Given the description of an element on the screen output the (x, y) to click on. 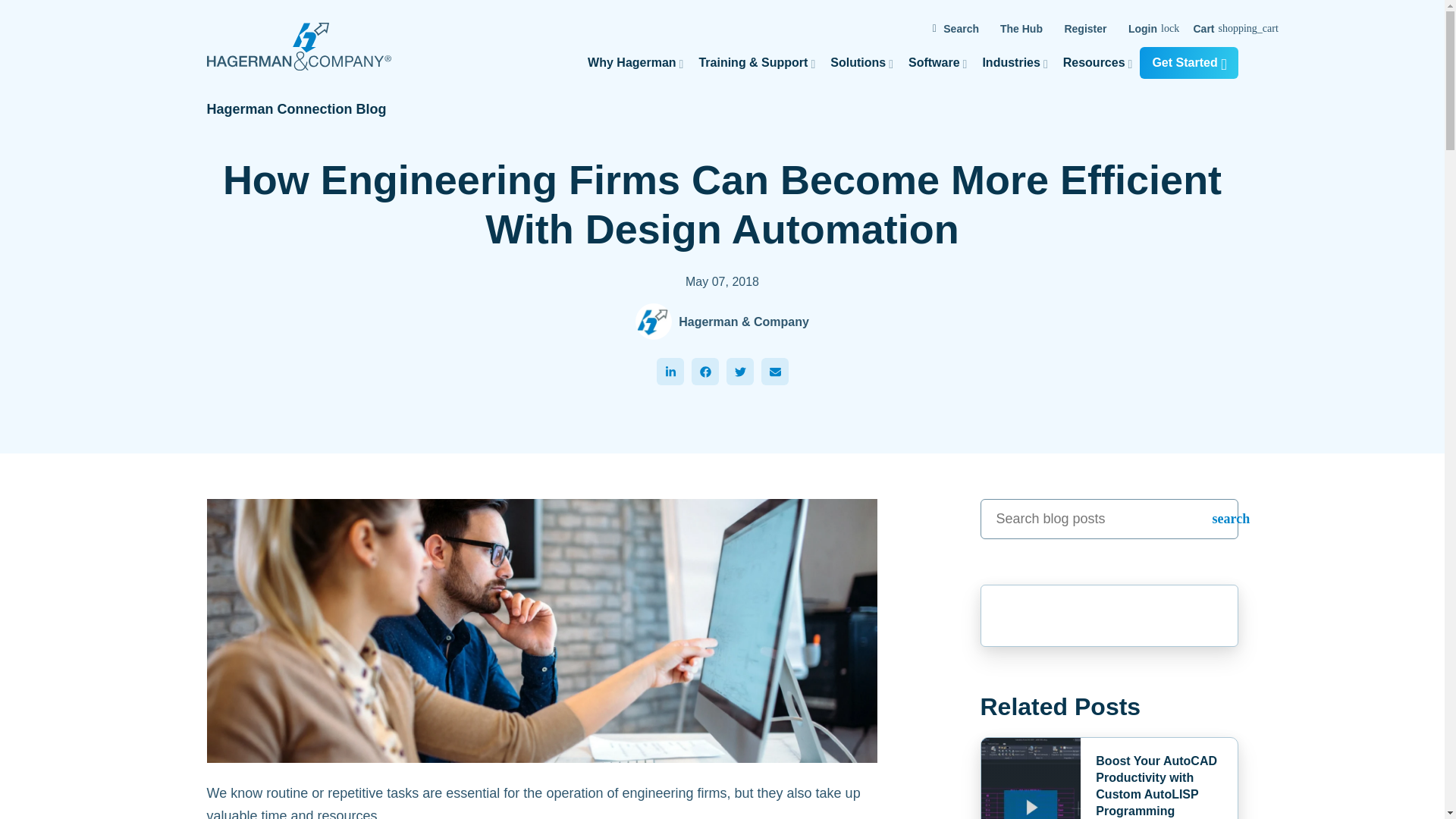
Email (775, 370)
Why Hagerman (634, 61)
Share on Facebook (705, 370)
Share on LinkedIn (670, 370)
Solutions (861, 61)
Tweet on Twitter (740, 370)
